Given the description of an element on the screen output the (x, y) to click on. 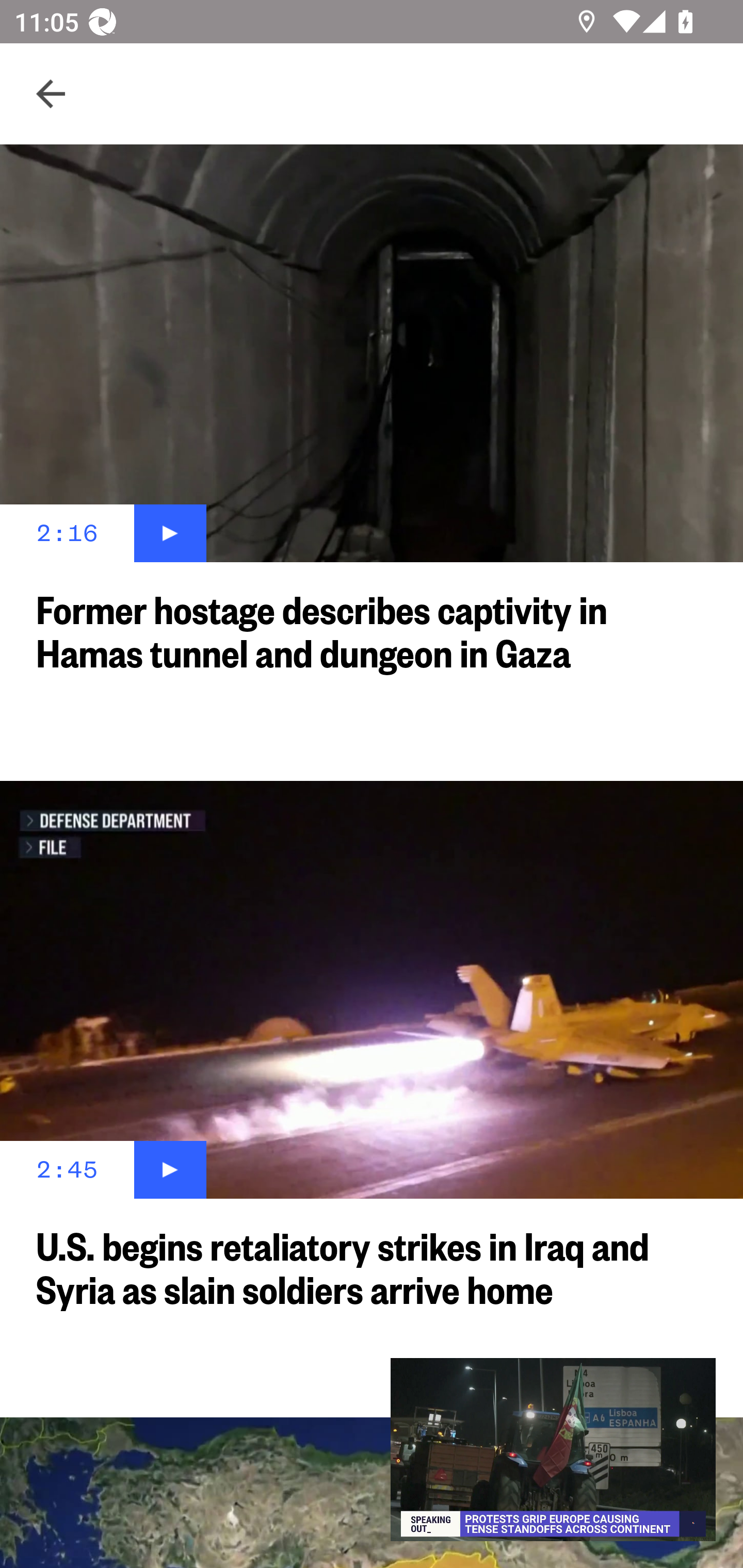
Navigate up (50, 93)
